Given the description of an element on the screen output the (x, y) to click on. 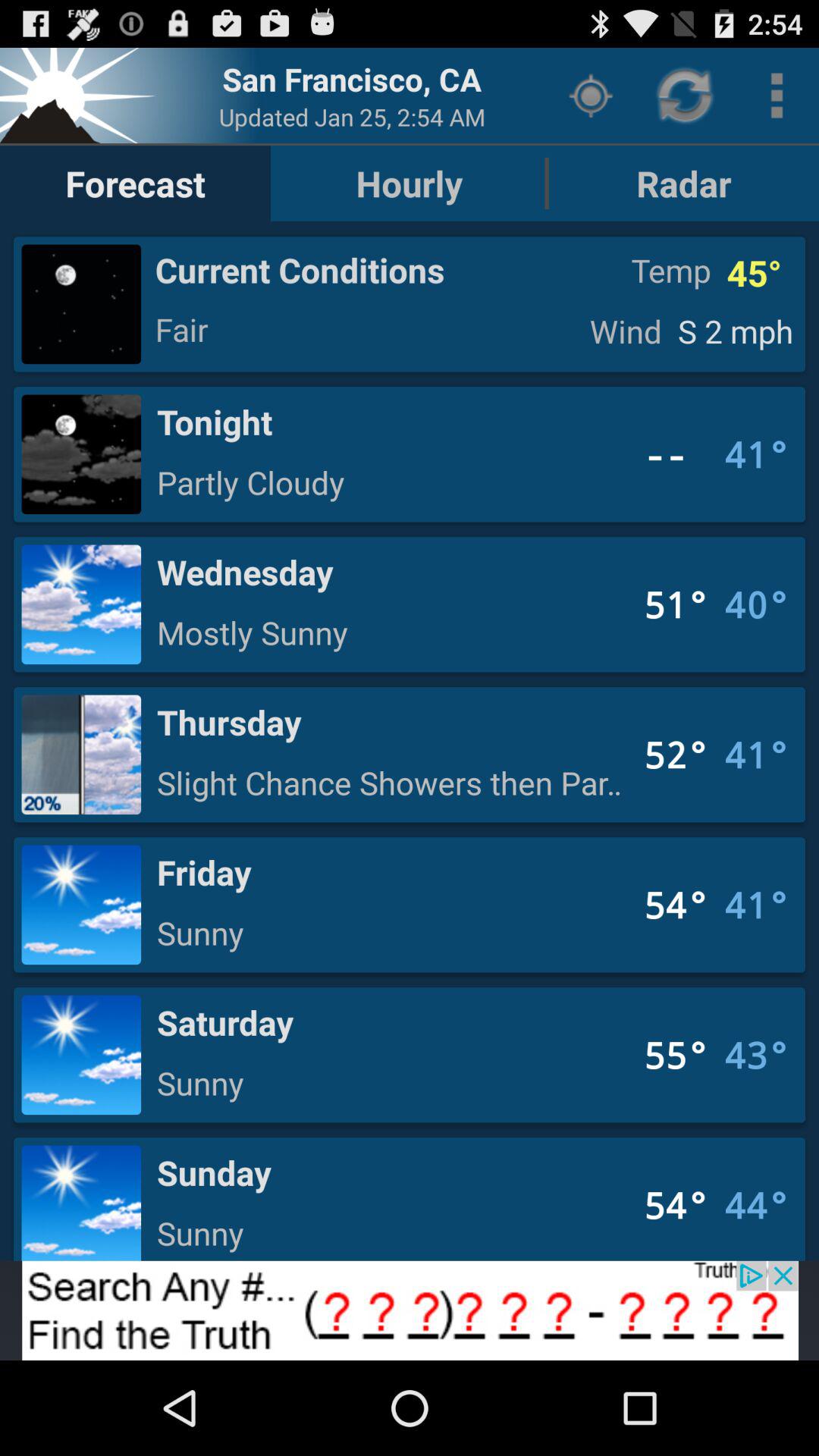
banner advertisement (409, 1310)
